Given the description of an element on the screen output the (x, y) to click on. 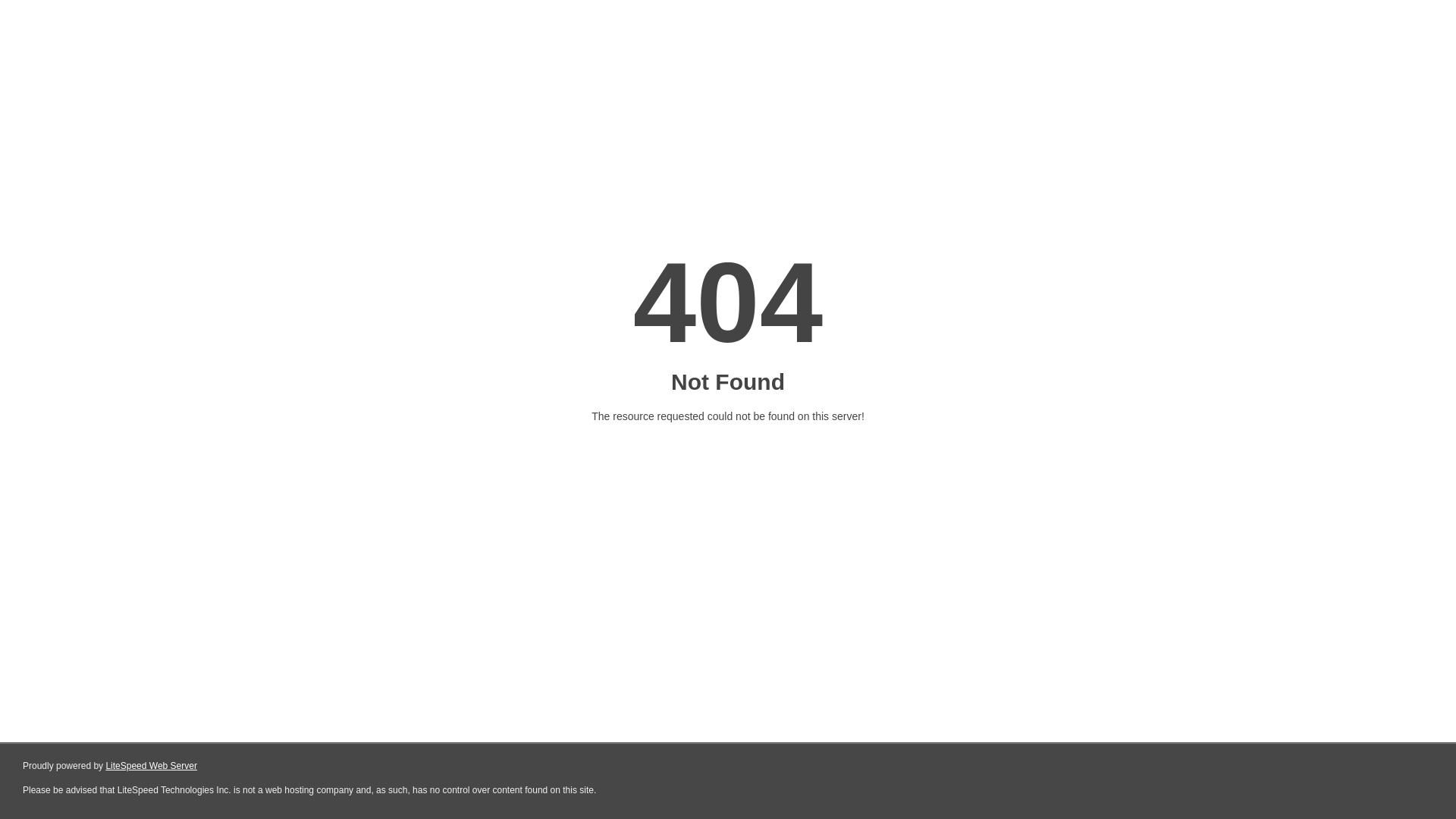
LiteSpeed Web Server Element type: text (151, 765)
